Given the description of an element on the screen output the (x, y) to click on. 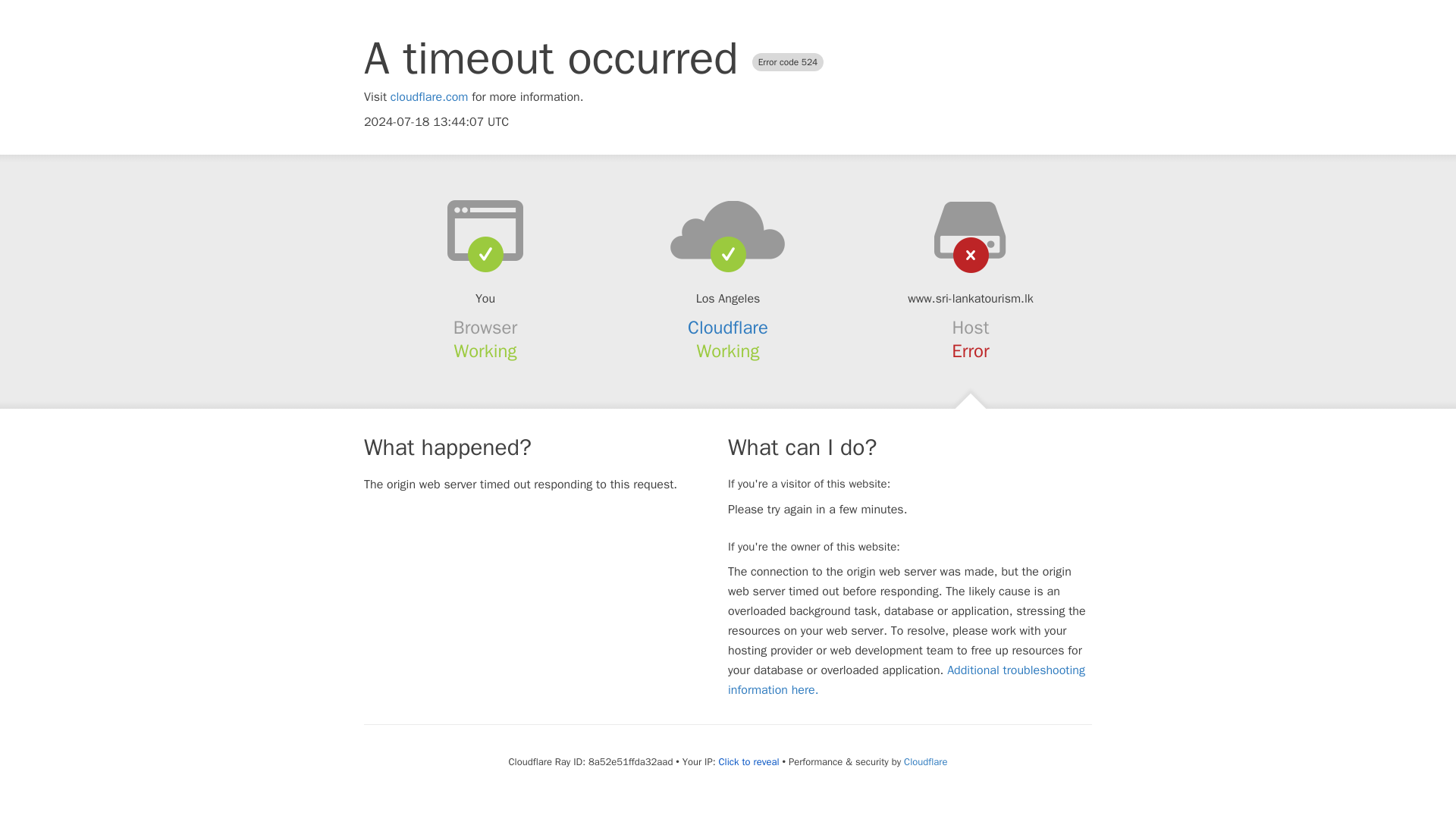
cloudflare.com (429, 96)
Cloudflare (925, 761)
Cloudflare (727, 327)
Click to reveal (748, 762)
Additional troubleshooting information here. (906, 679)
